Given the description of an element on the screen output the (x, y) to click on. 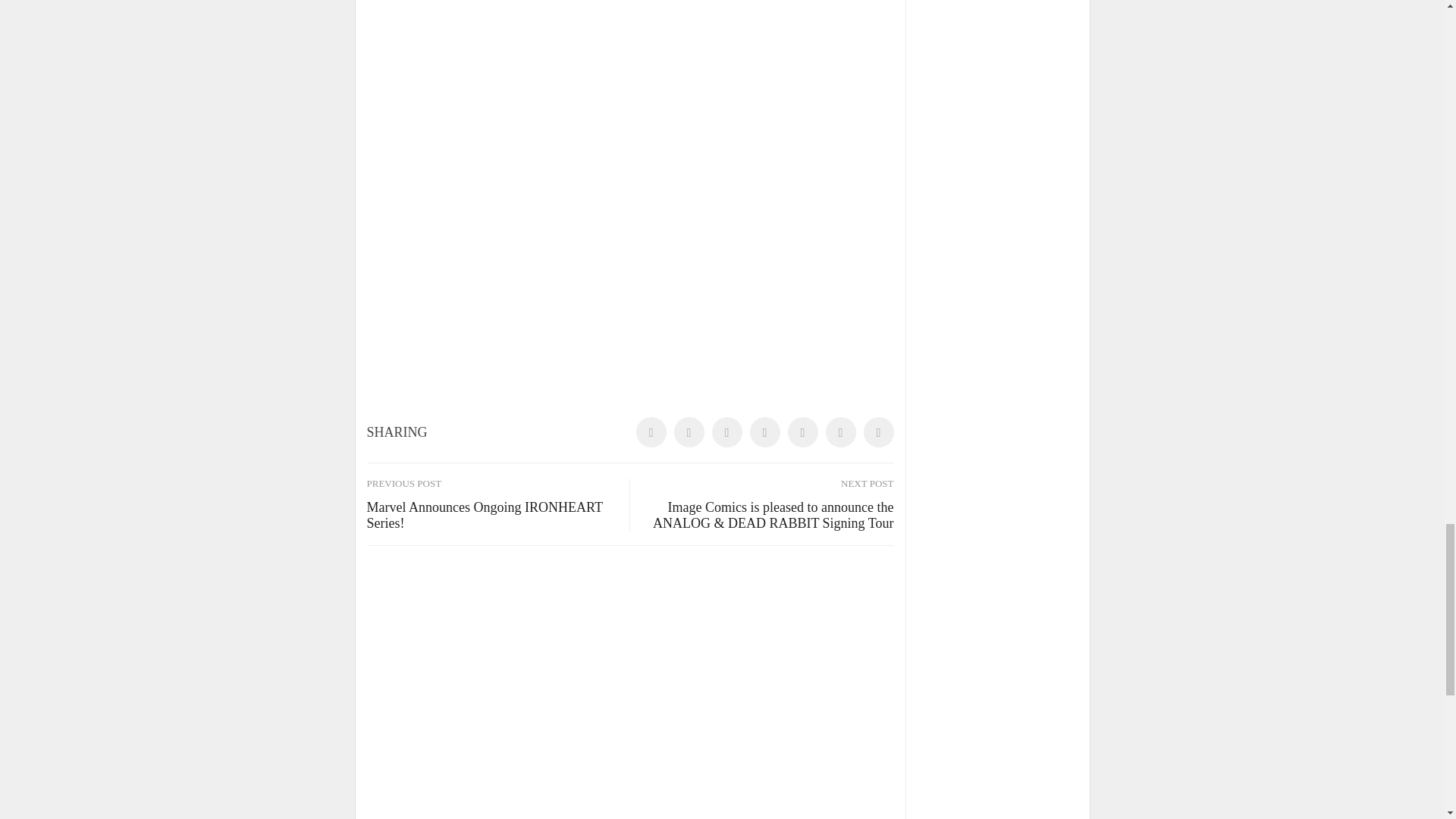
Share on LinkedIn (726, 431)
Share on Facebook (649, 431)
Share on Tumblr (763, 431)
Share on Twitter (687, 431)
